Given the description of an element on the screen output the (x, y) to click on. 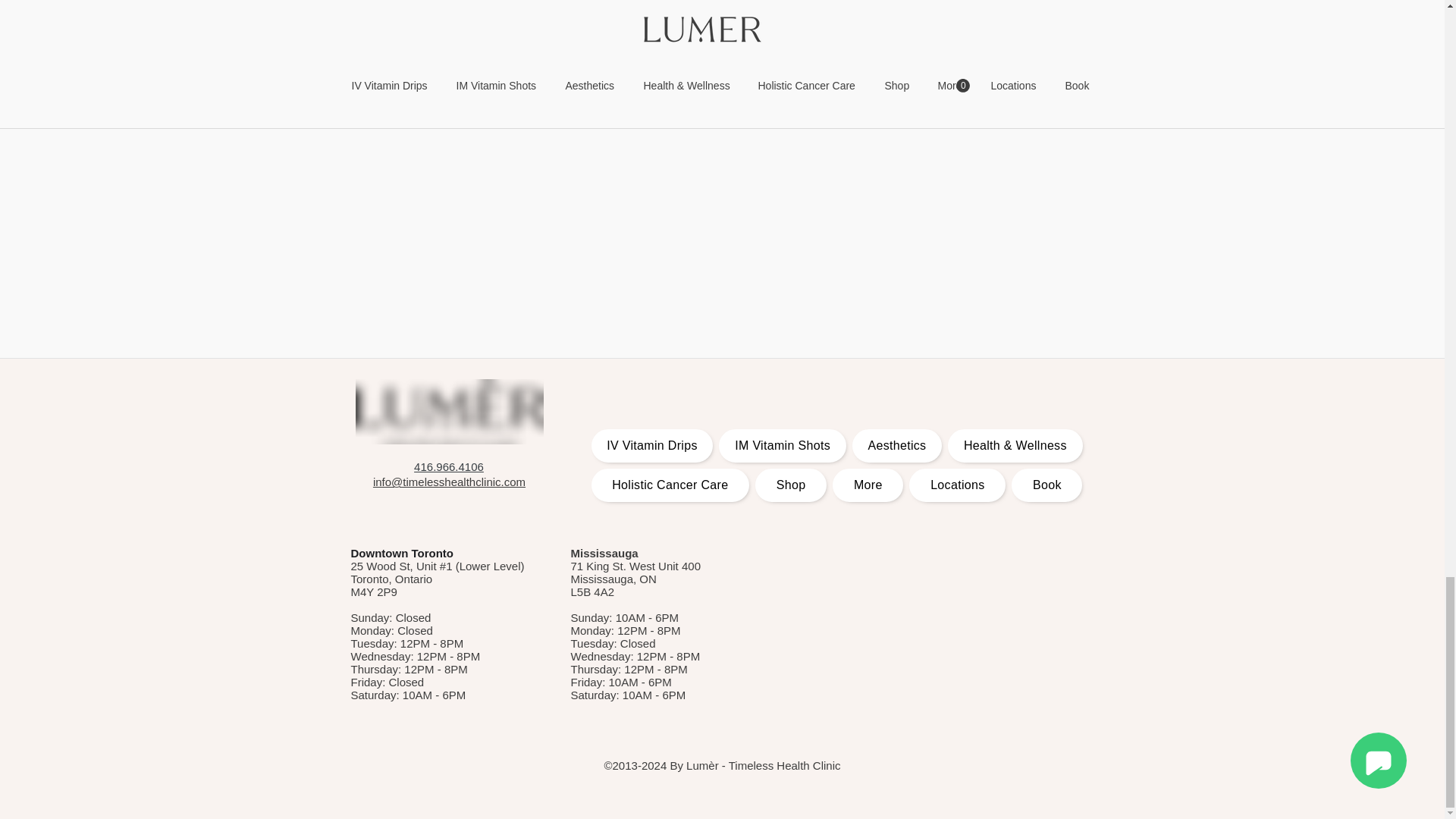
Google Maps (900, 639)
